Given the description of an element on the screen output the (x, y) to click on. 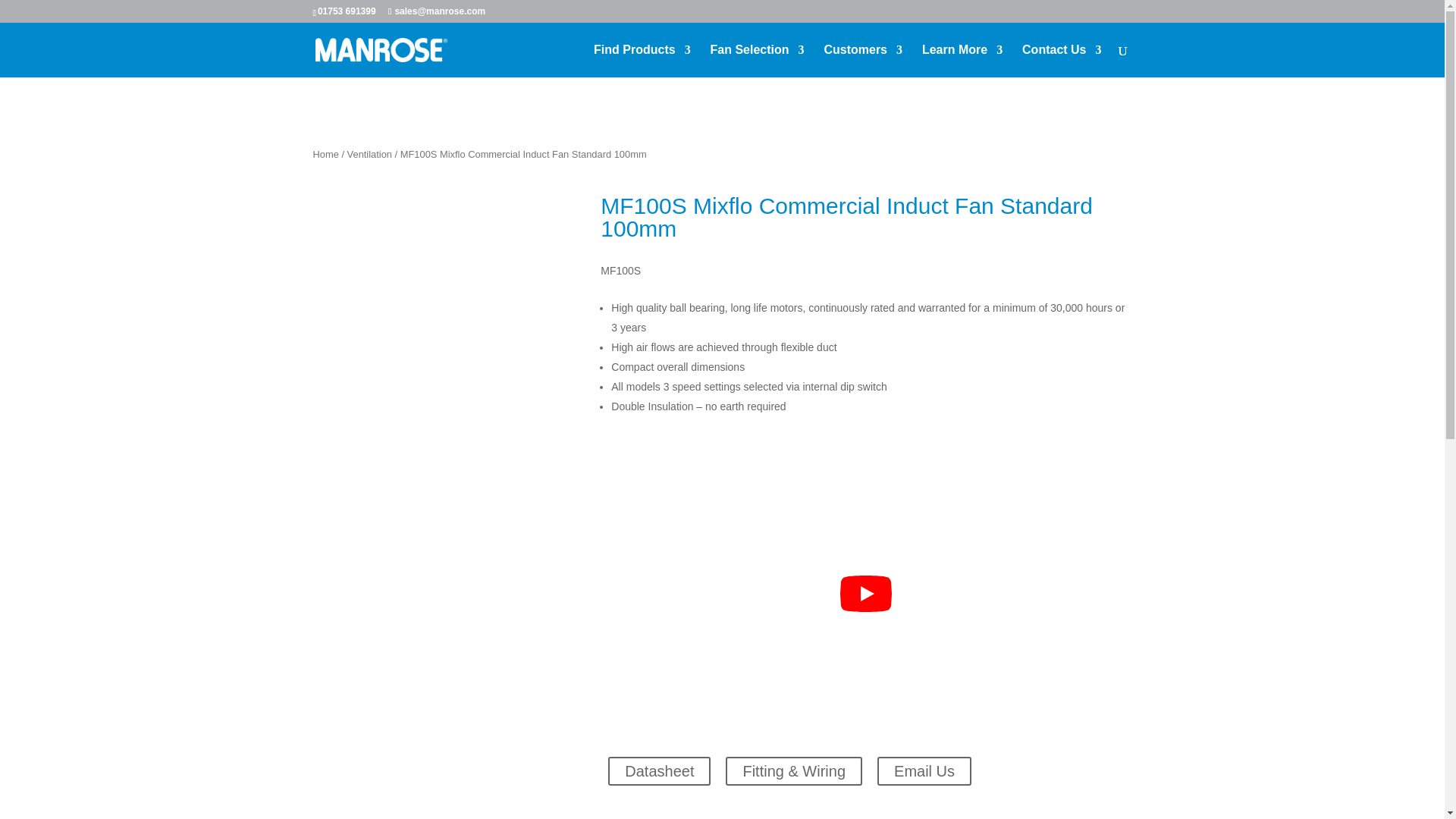
Fan Selection (757, 60)
Datasheet (659, 770)
Customers (863, 60)
Ventilation (369, 153)
Home (325, 153)
Learn More (962, 60)
Find Products (642, 60)
Contact Us (1061, 60)
